Given the description of an element on the screen output the (x, y) to click on. 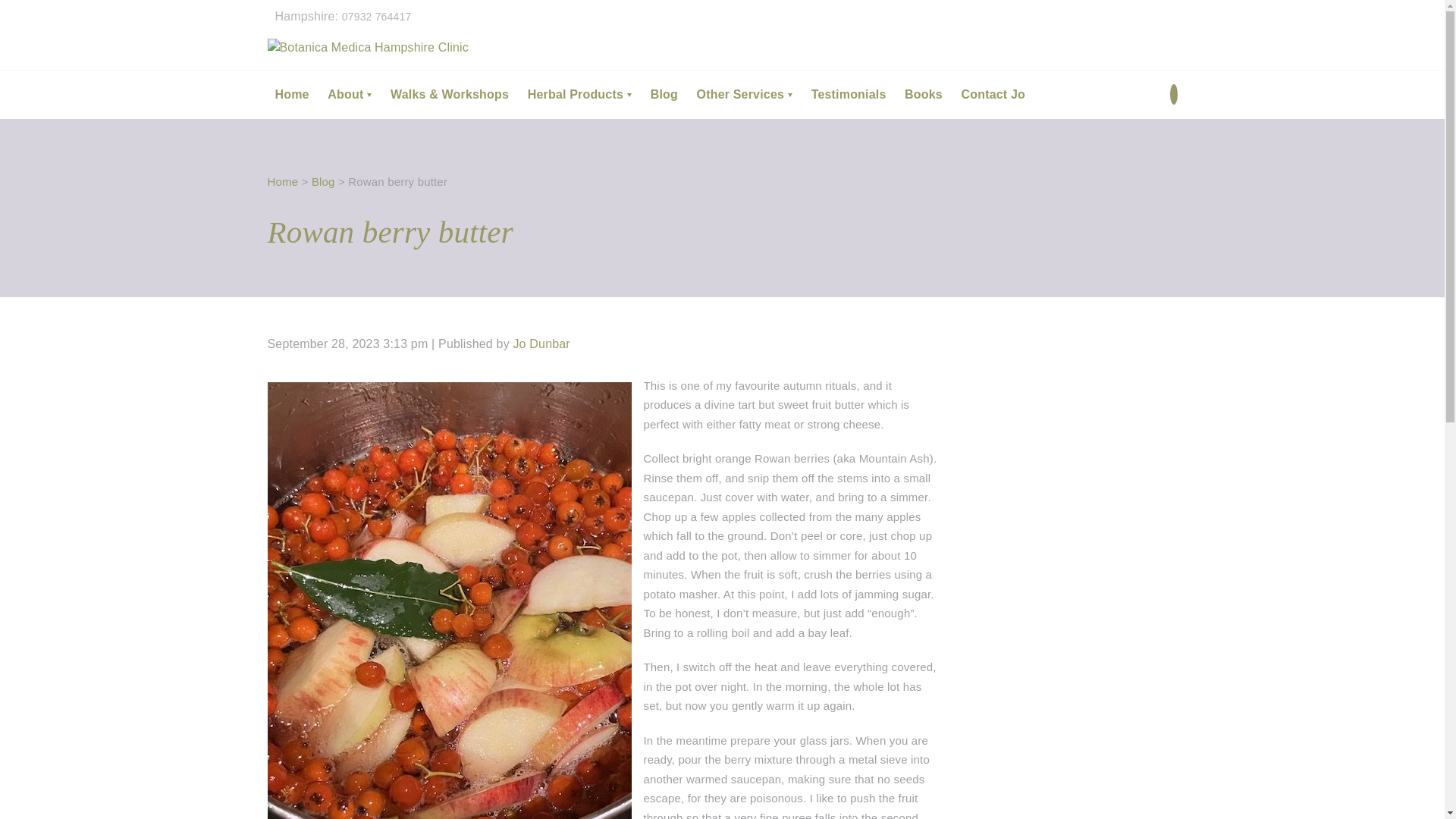
Home (291, 93)
Botanica Medica Hampshire Clinic (366, 47)
Search (1161, 147)
About (349, 93)
Blog (664, 93)
Herbal Products (579, 93)
07932 764417 (377, 16)
Jo Dunbar (540, 343)
Blog (322, 180)
Contact Jo (992, 93)
Posts by Jo Dunbar (540, 343)
Testimonials (848, 93)
Books (923, 93)
Home (282, 180)
Other Services (744, 93)
